Given the description of an element on the screen output the (x, y) to click on. 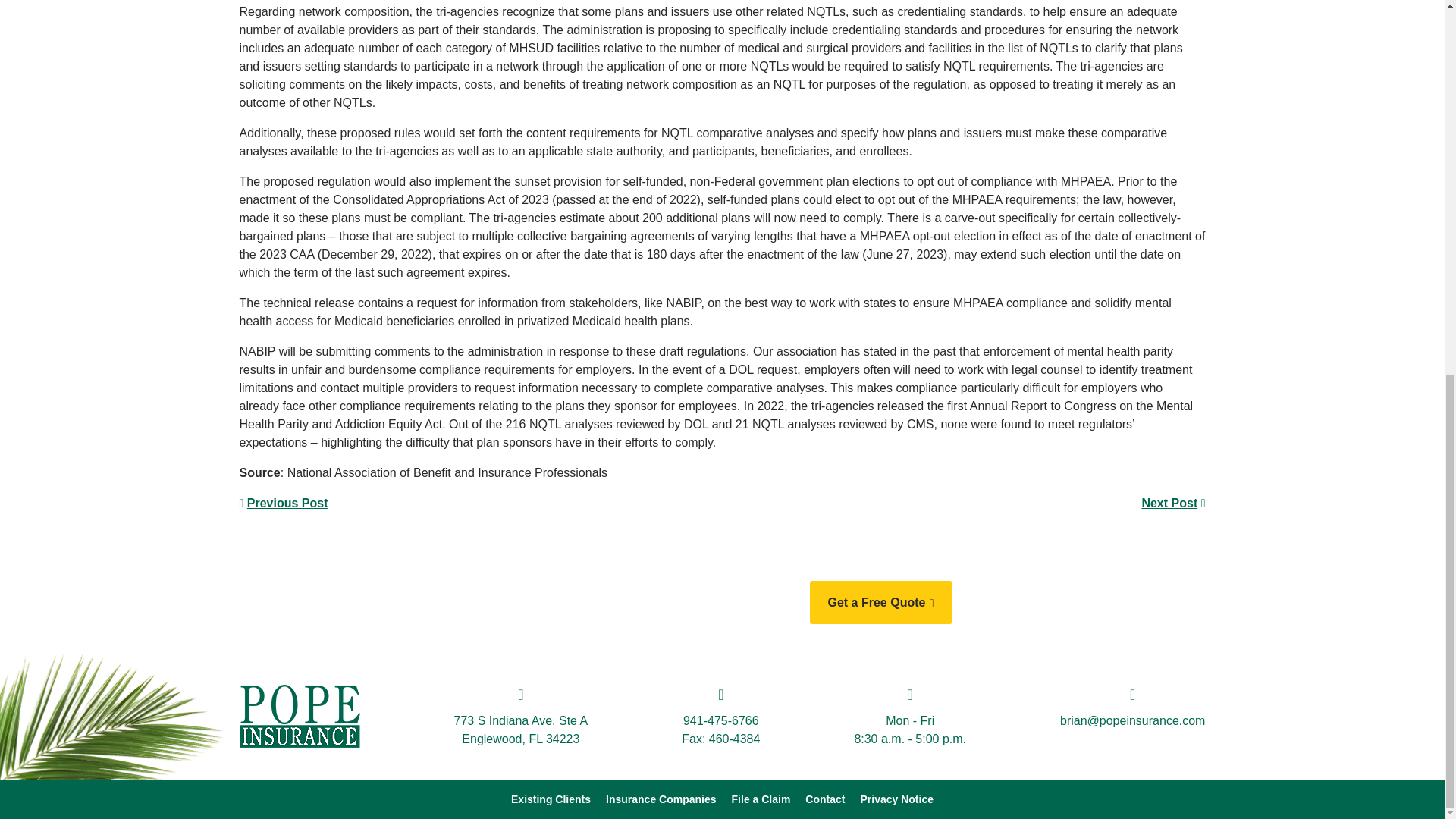
Privacy Notice (896, 799)
Existing Clients (551, 799)
Previous Post (288, 502)
Next Post (1168, 502)
Contact (824, 799)
941-475-6766 (720, 720)
File a Claim (761, 799)
Insurance Companies (660, 799)
Get a Free Quote (880, 602)
